Given the description of an element on the screen output the (x, y) to click on. 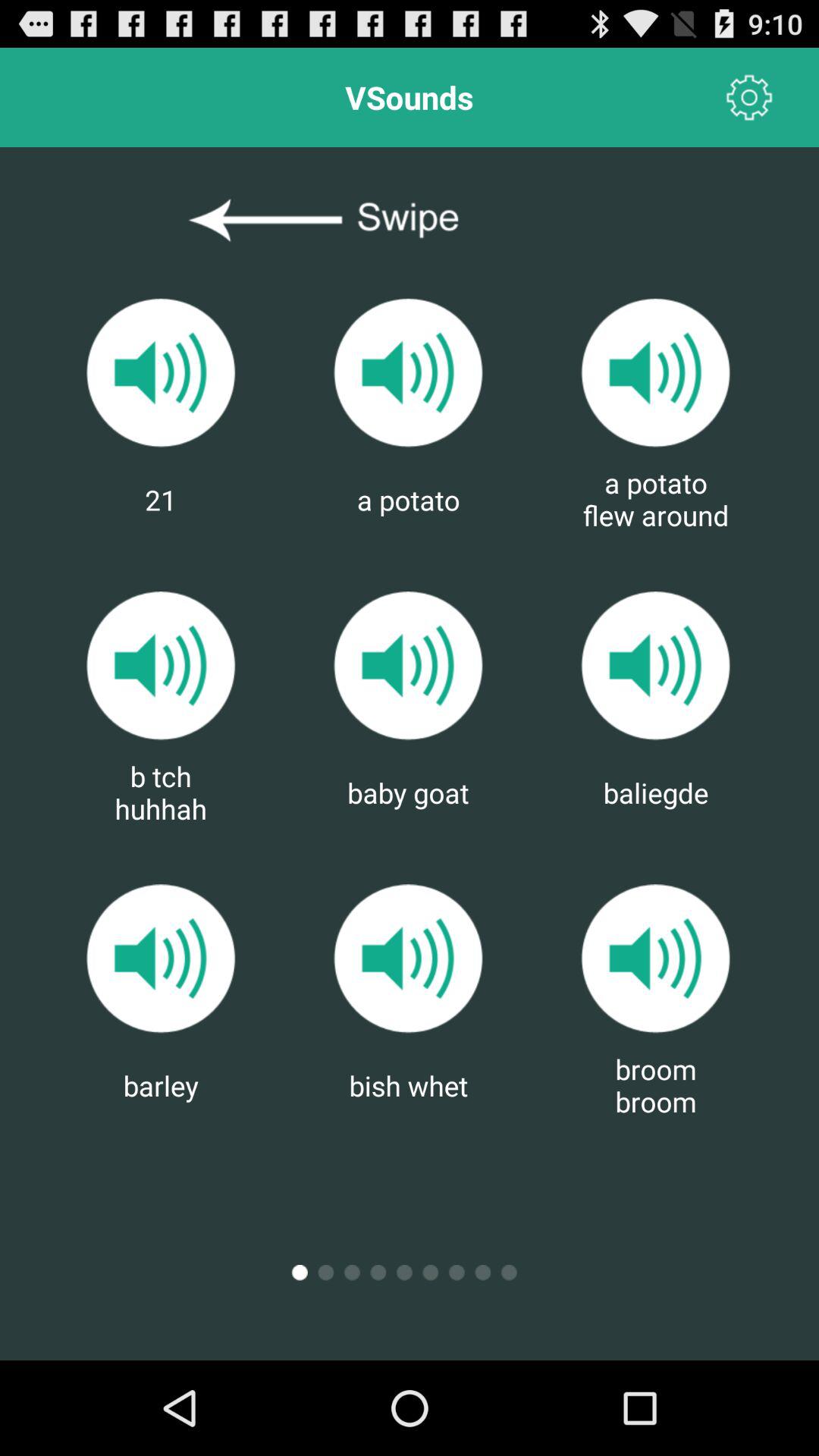
swipe to left (409, 220)
